Given the description of an element on the screen output the (x, y) to click on. 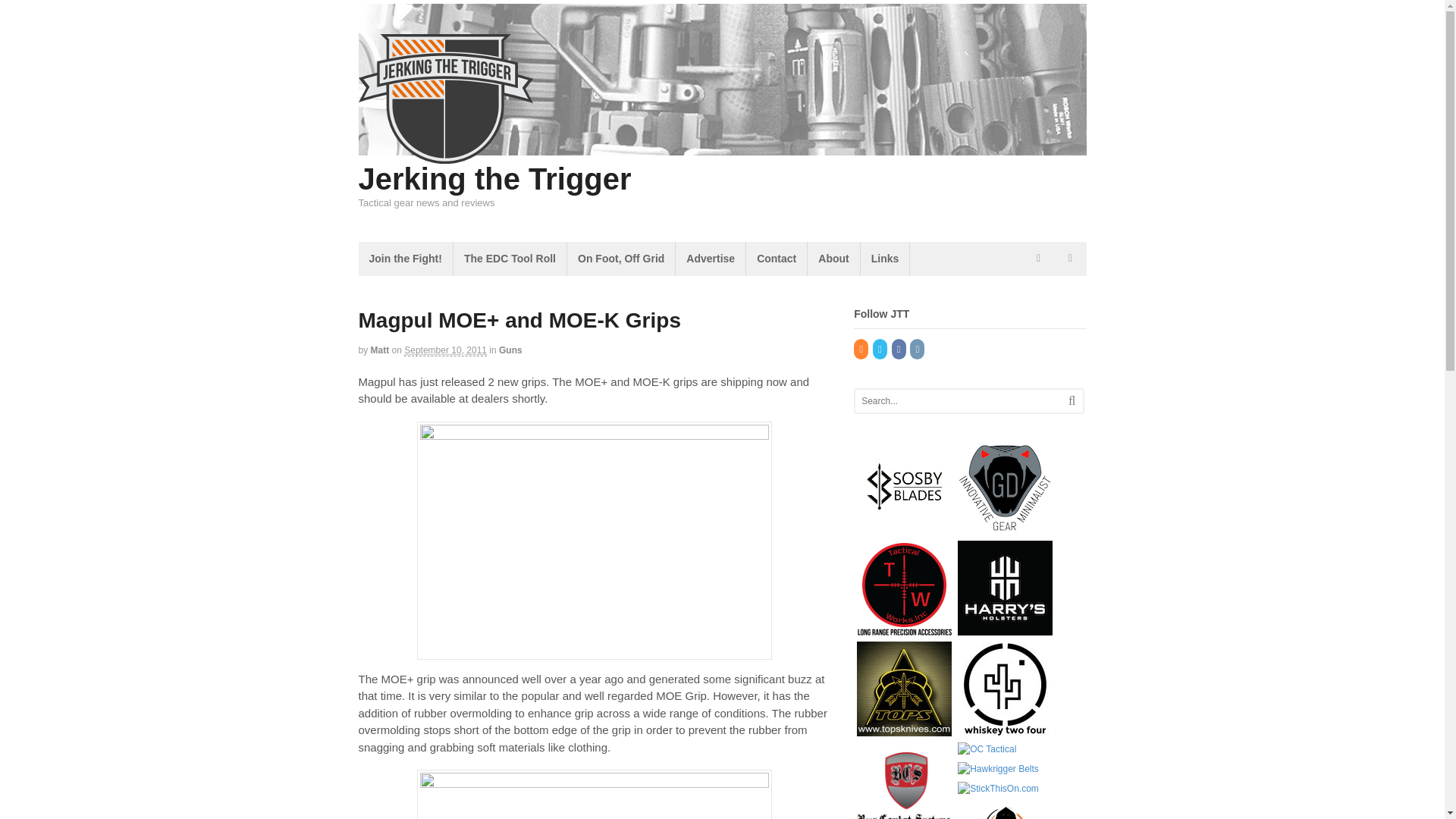
Magpul MOE-K Grip (593, 794)
Search... (958, 400)
About (833, 258)
Posts by Matt (380, 349)
Links (885, 258)
2011-09-10T08:30:09-0700 (445, 350)
Matt (380, 349)
On Foot, Off Grid (621, 258)
Jerking the Trigger (494, 178)
Join the Fight! (404, 258)
